Given the description of an element on the screen output the (x, y) to click on. 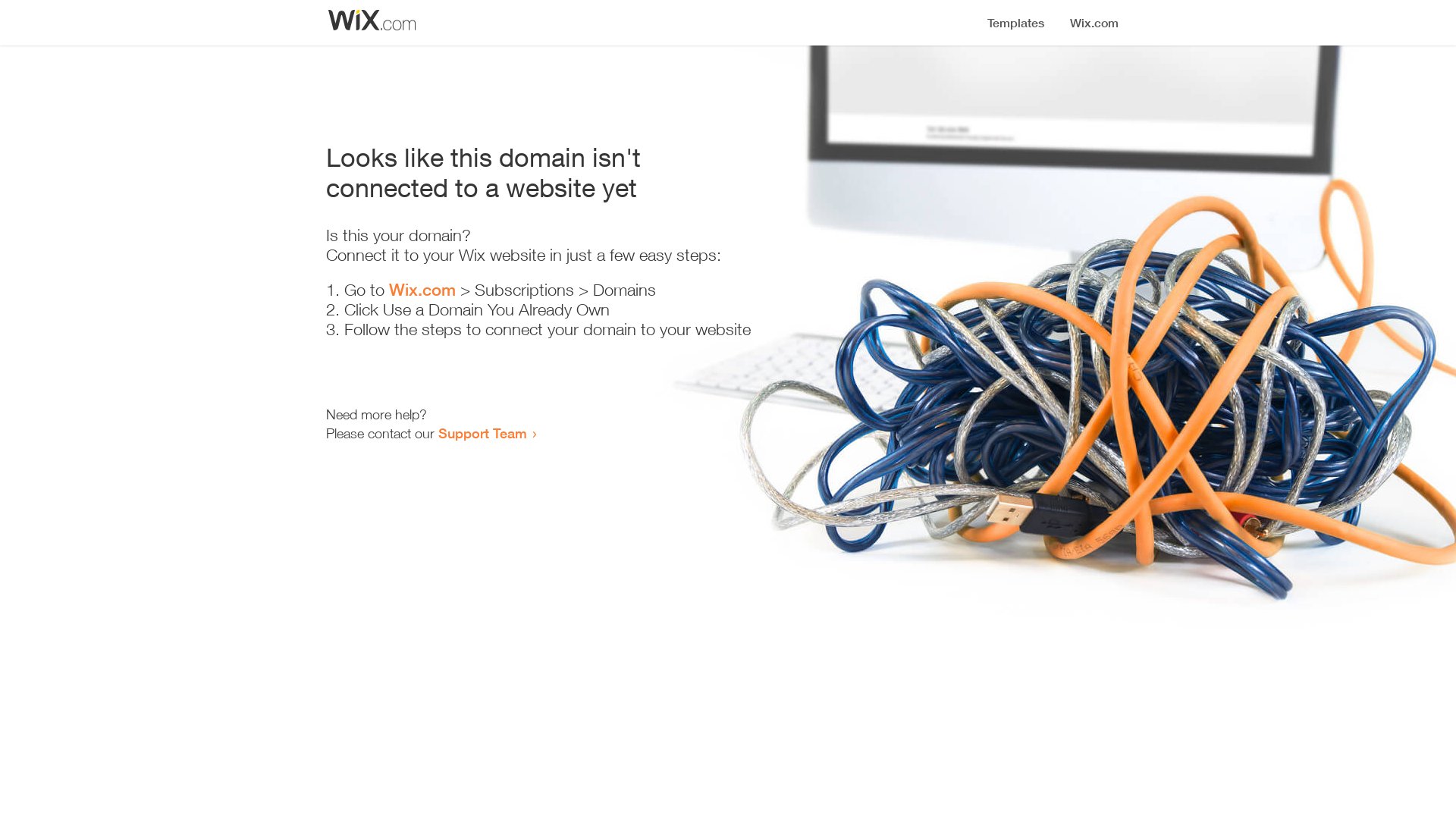
Wix.com Element type: text (422, 289)
Support Team Element type: text (482, 432)
